Given the description of an element on the screen output the (x, y) to click on. 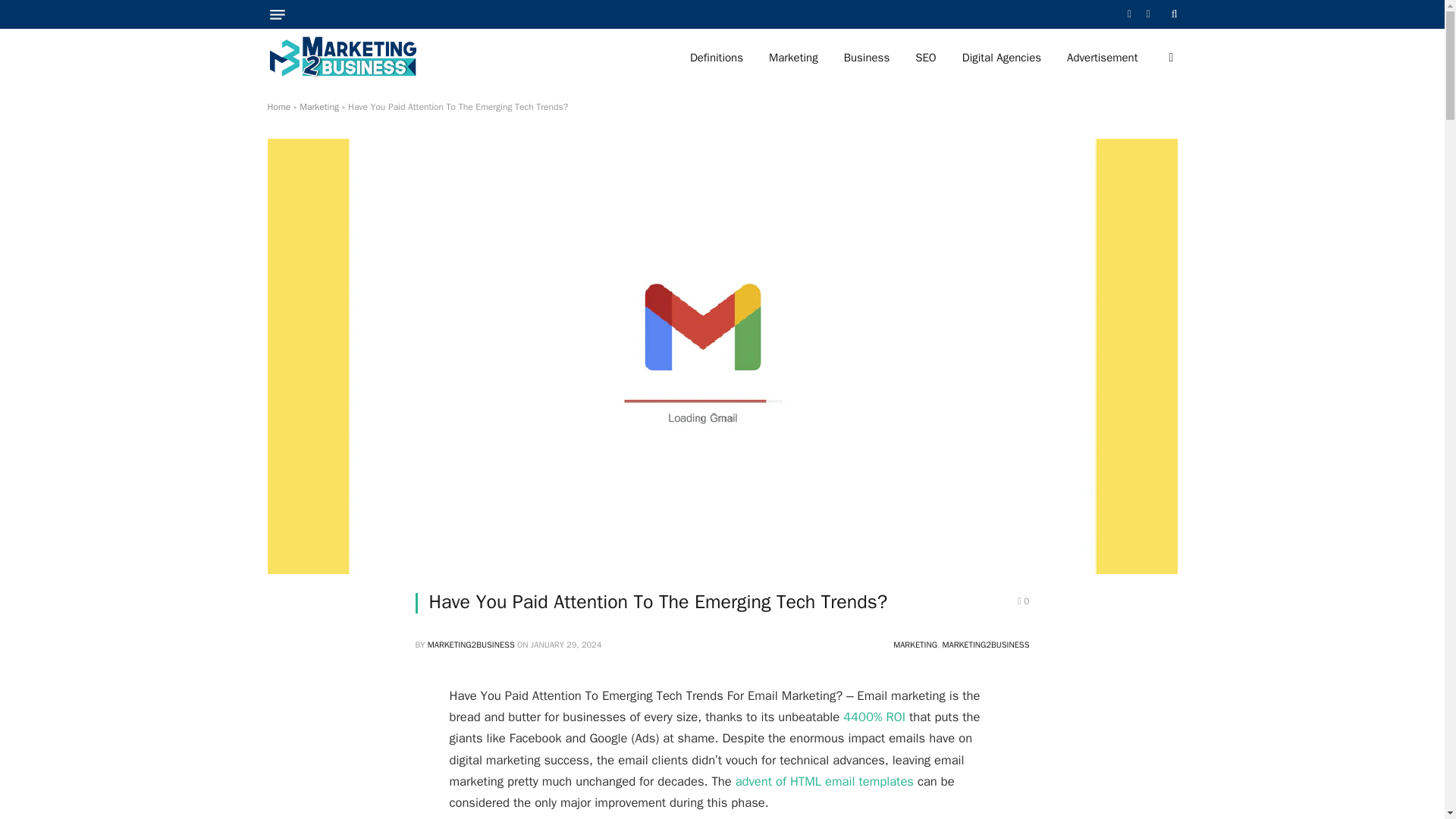
MARKETING2BUSINESS (985, 644)
Advertisement (1102, 57)
Business (866, 57)
Marketing (319, 106)
Marketing2Business (341, 57)
Posts by marketing2business (471, 644)
advent of HTML email templates (824, 781)
Definitions (716, 57)
Digital Agencies (1001, 57)
2024-01-29 (566, 644)
MARKETING (915, 644)
Marketing (793, 57)
MARKETING2BUSINESS (471, 644)
Switch to Dark Design - easier on eyes. (1168, 57)
